Given the description of an element on the screen output the (x, y) to click on. 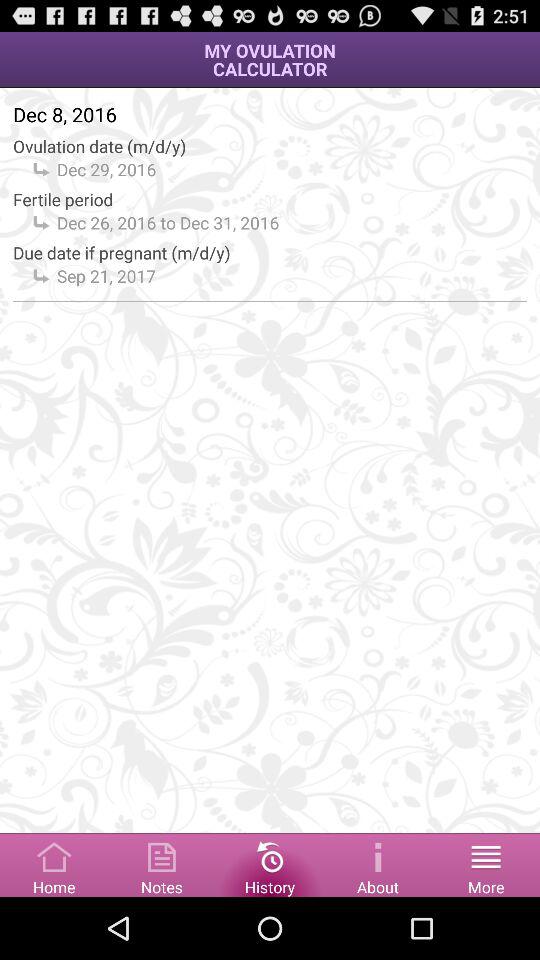
home option (54, 864)
